Given the description of an element on the screen output the (x, y) to click on. 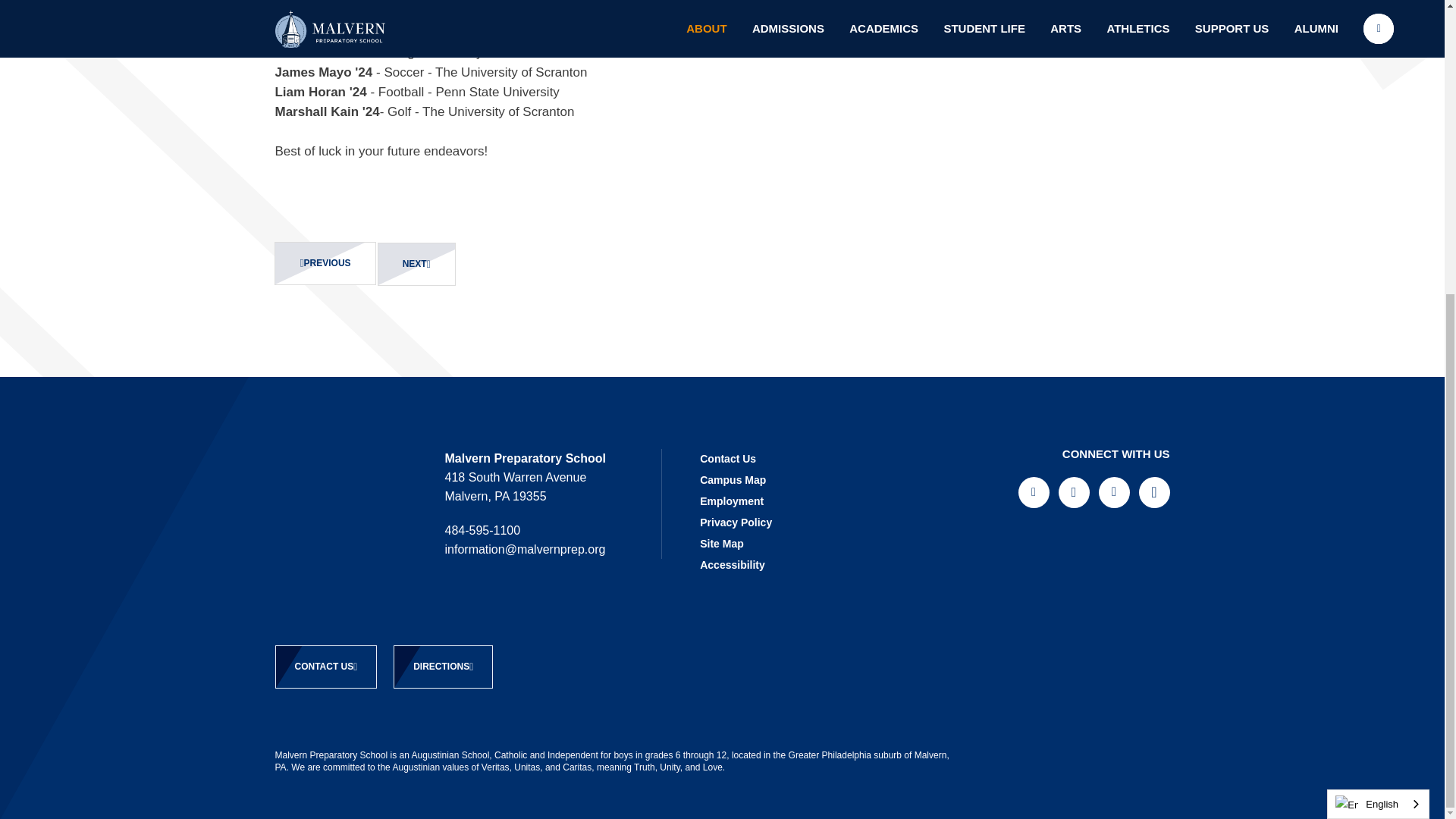
Powered by Finalsite opens in a new window (1070, 758)
